Given the description of an element on the screen output the (x, y) to click on. 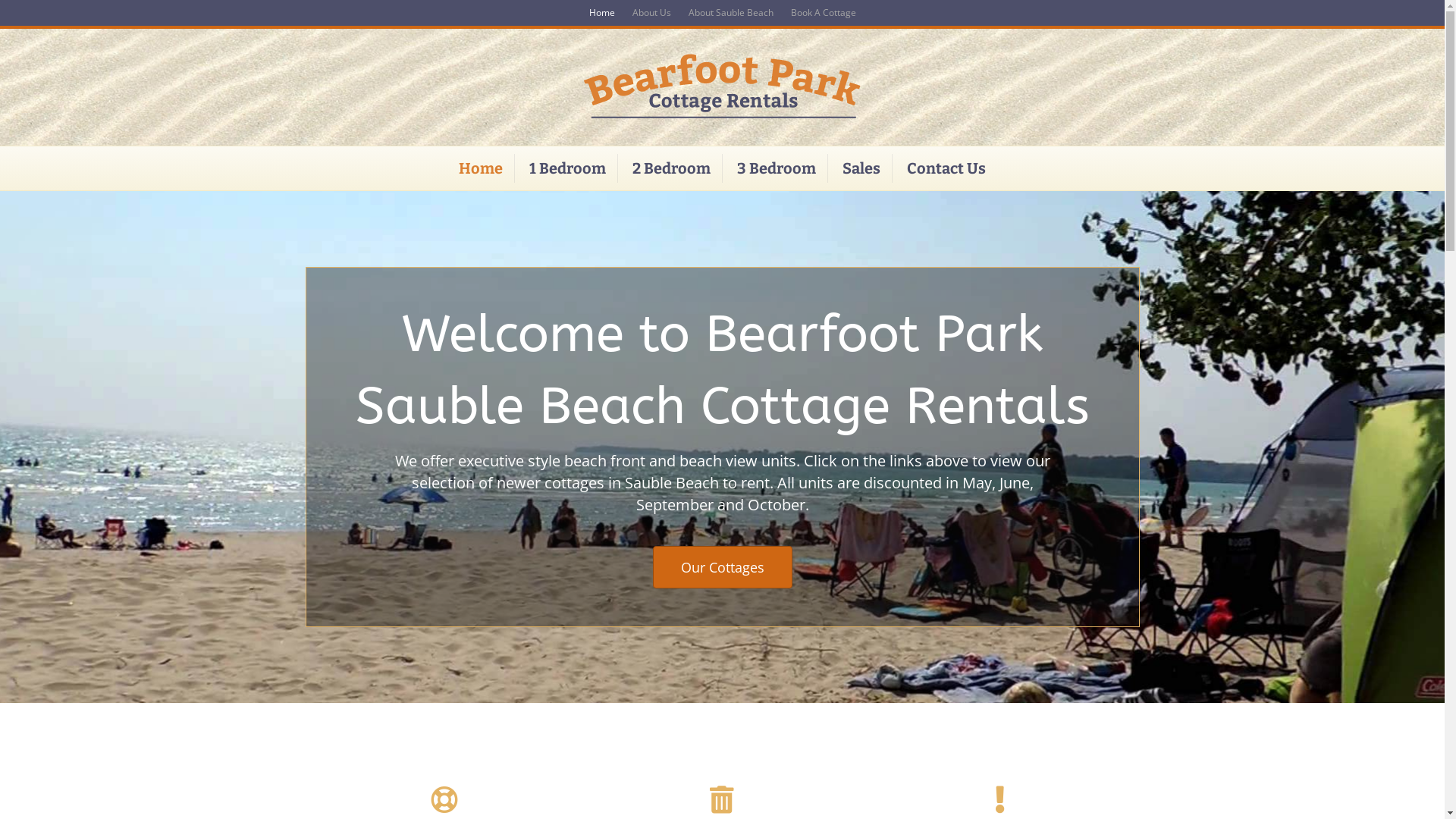
Sales Element type: text (861, 167)
About Us Element type: text (651, 12)
Home Element type: text (600, 12)
About Sauble Beach Element type: text (730, 12)
Our Cottages Element type: text (721, 567)
Contact Us Element type: text (946, 167)
1 Bedroom Element type: text (567, 167)
2 Bedroom Element type: text (671, 167)
Home Element type: text (480, 167)
Book A Cottage Element type: text (822, 12)
3 Bedroom Element type: text (776, 167)
